Given the description of an element on the screen output the (x, y) to click on. 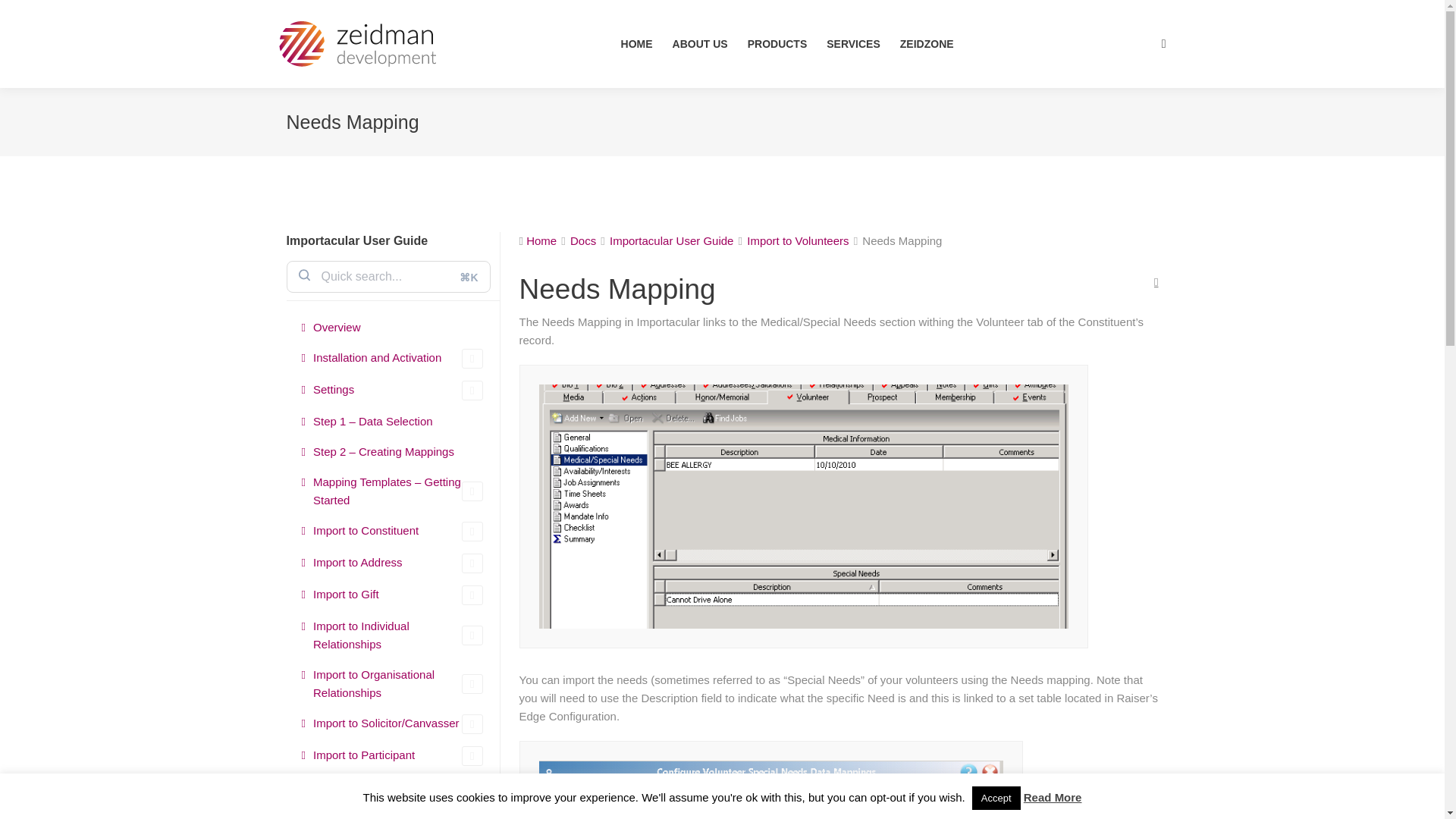
HOME (636, 44)
ABOUT US (700, 44)
ZEIDZONE (926, 44)
Search for: (389, 276)
Print this article (1155, 281)
Go! (24, 16)
PRODUCTS (778, 44)
SERVICES (853, 44)
